Given the description of an element on the screen output the (x, y) to click on. 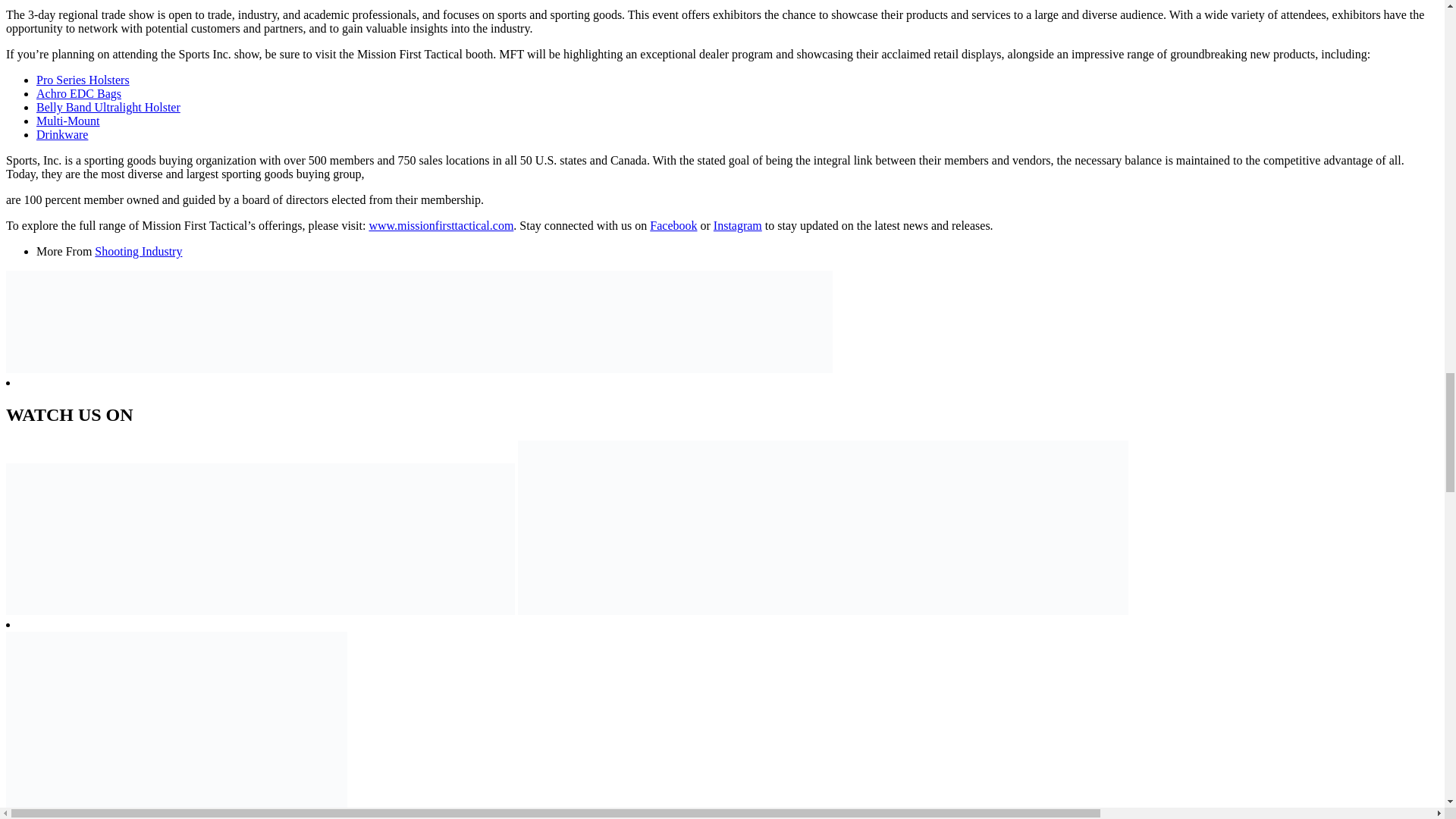
Shooting Industry (138, 250)
Facebook (673, 225)
Drinkware (61, 133)
Multi-Mount (68, 120)
Belly Band Ultralight Holster (108, 106)
www.missionfirsttactical.com (440, 225)
Instagram (737, 225)
Pro Series Holsters (82, 79)
Achro EDC Bags (78, 92)
